Given the description of an element on the screen output the (x, y) to click on. 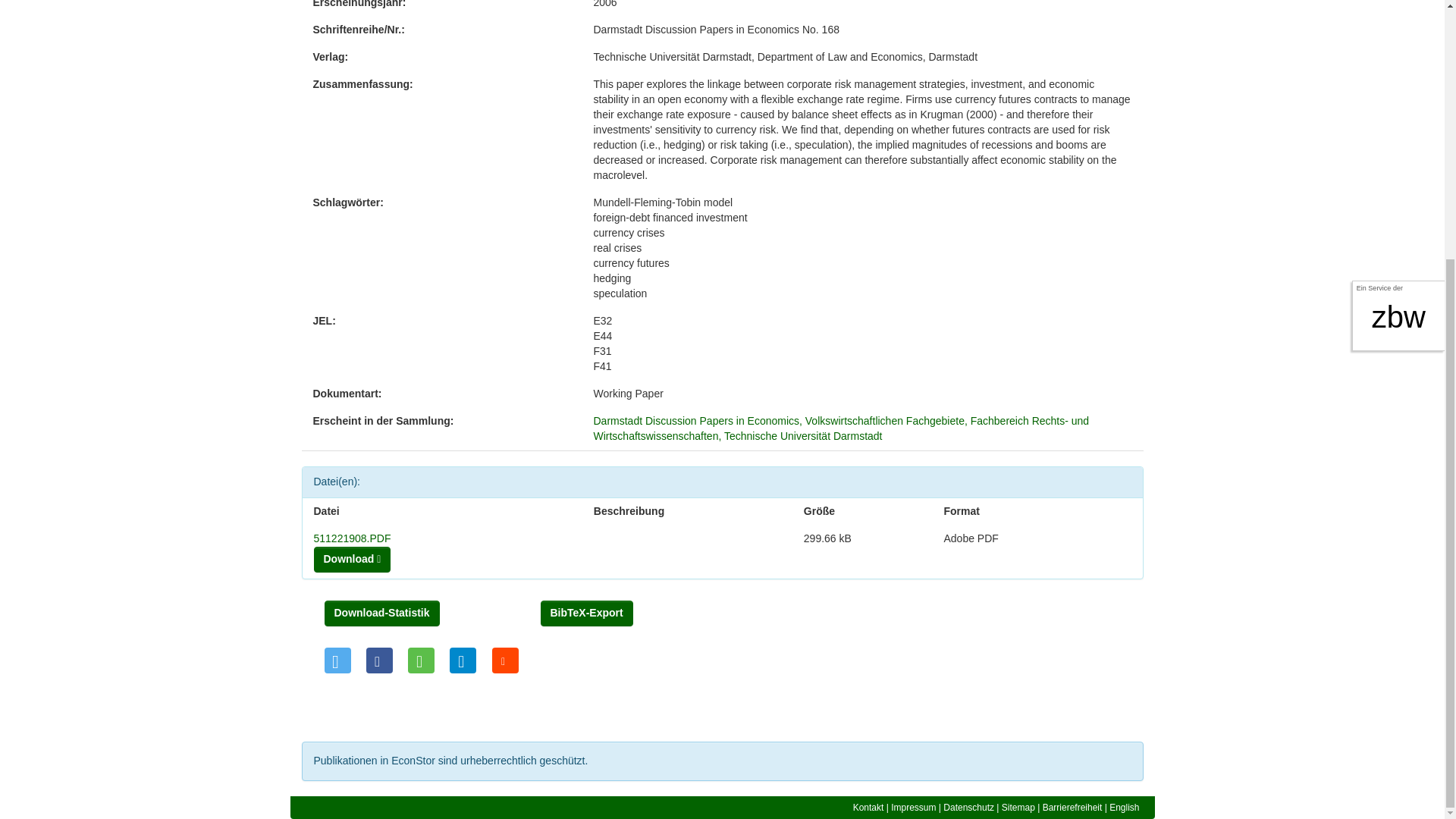
Bei Reddit teilen (505, 660)
Bei Whatsapp teilen (420, 660)
Bei Facebook teilen (379, 660)
Bei Telegram teilen (462, 660)
Bei Twitter teilen (337, 660)
